Given the description of an element on the screen output the (x, y) to click on. 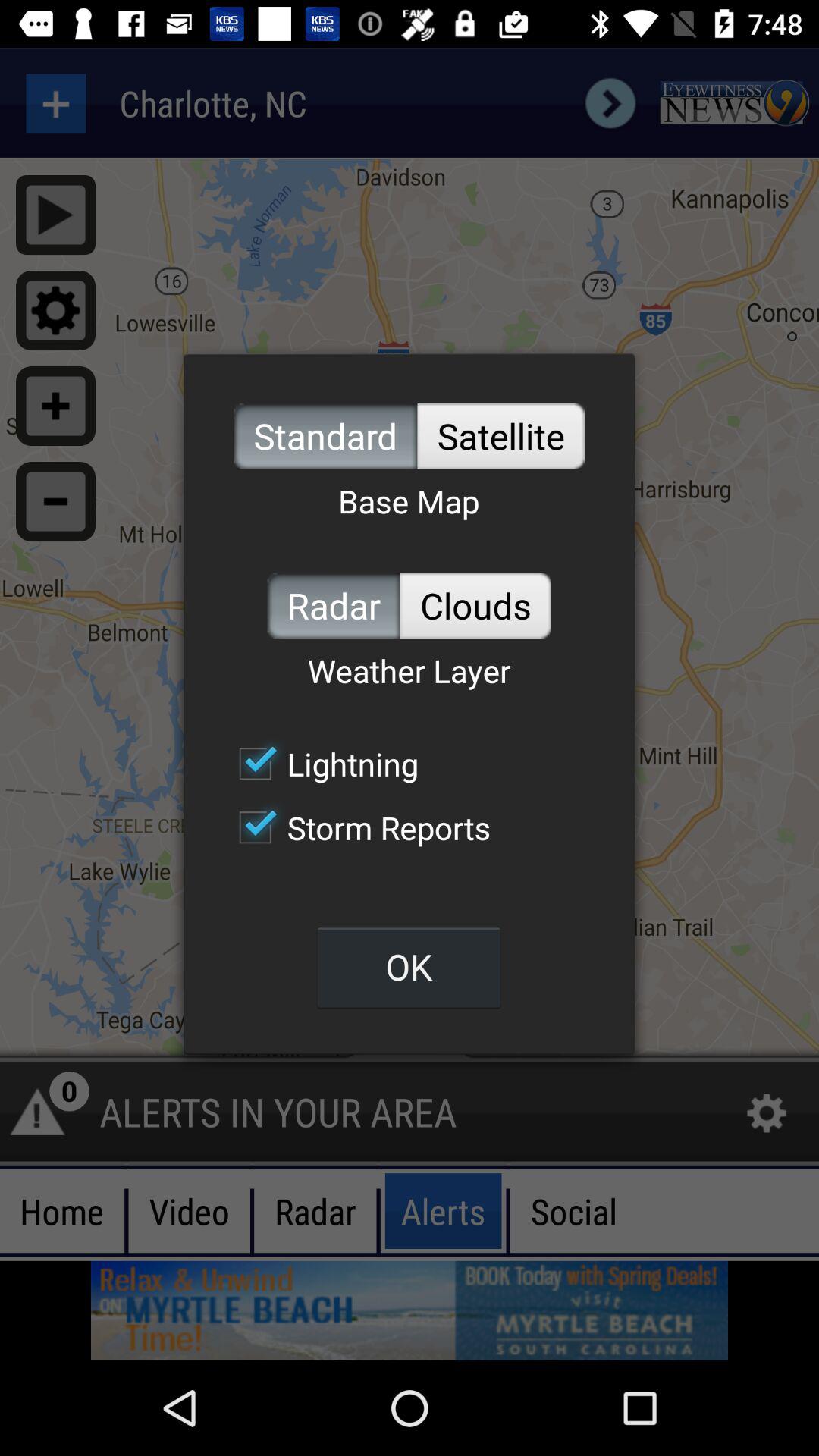
jump until ok (408, 966)
